Given the description of an element on the screen output the (x, y) to click on. 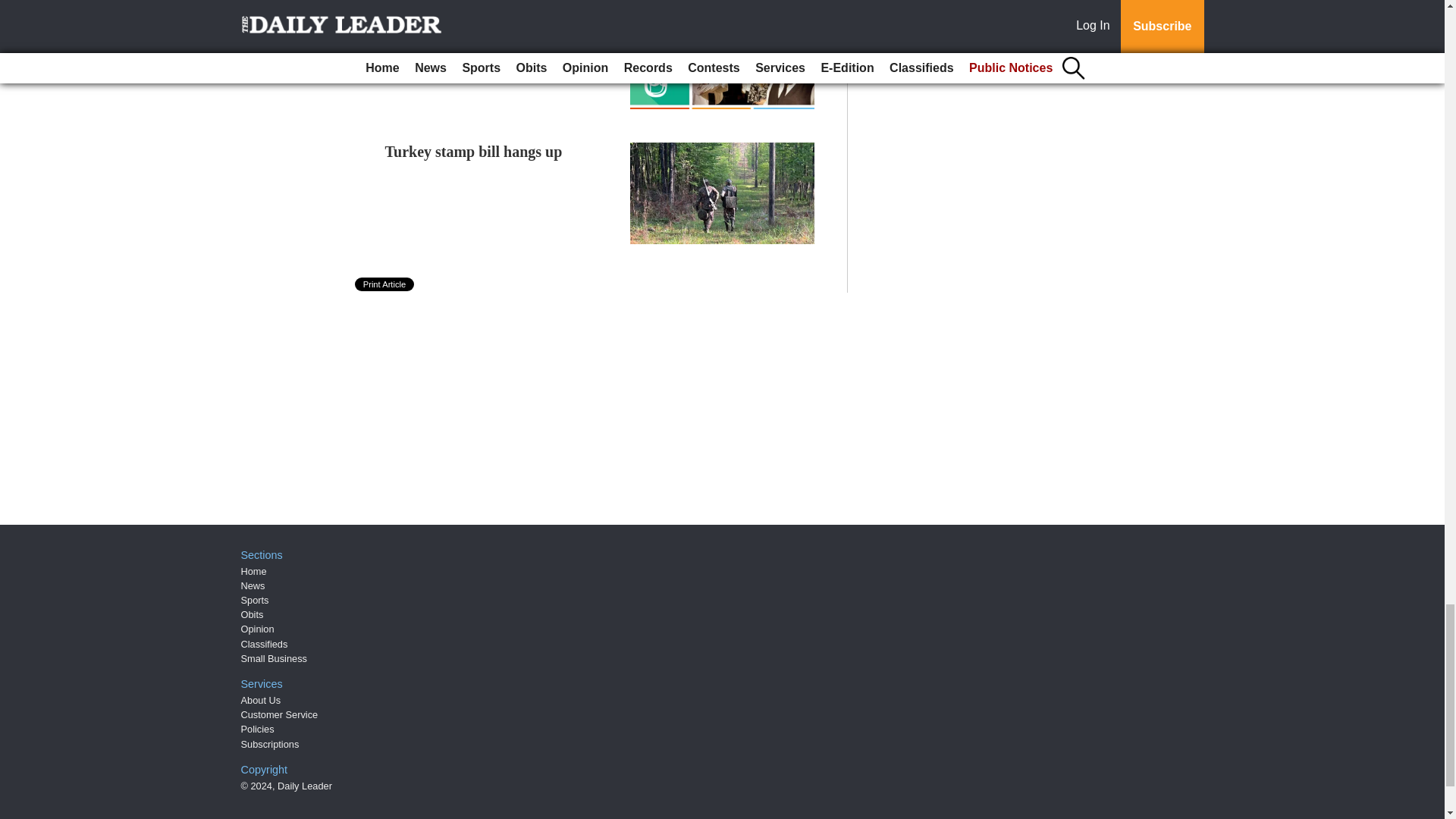
Turkey stamp bill hangs up (473, 151)
Print Article (384, 284)
Turkey stamp bill hangs up (473, 151)
